Given the description of an element on the screen output the (x, y) to click on. 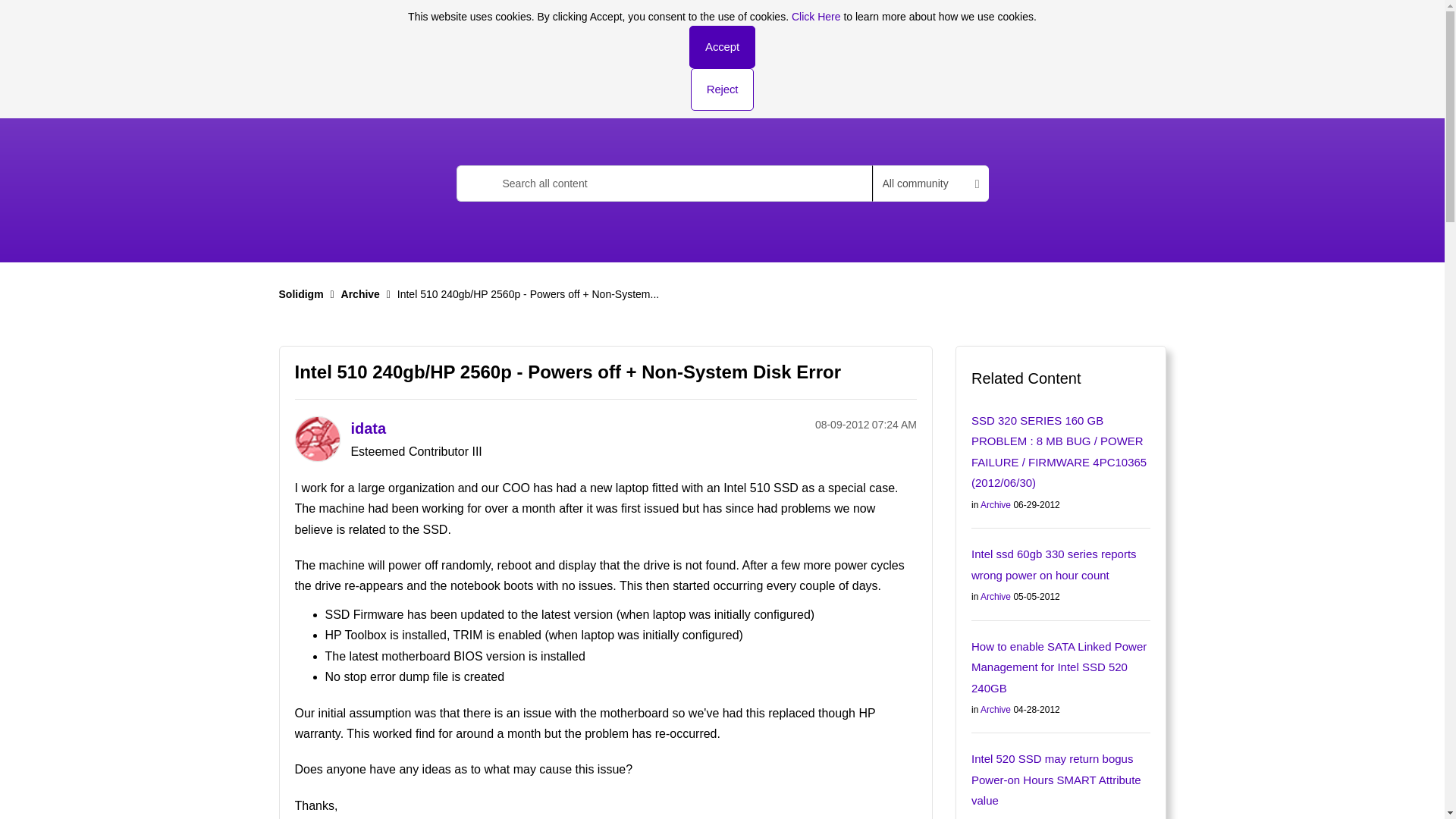
Archive (360, 294)
Search (477, 183)
Search (477, 183)
Help (1117, 29)
Search (477, 183)
Solidigm (395, 28)
Solidigm (301, 294)
Accept (721, 46)
Search (664, 183)
Announcements (478, 81)
idata (316, 438)
Search Granularity (930, 183)
Reject (722, 88)
Click Here (816, 16)
idata (367, 428)
